Given the description of an element on the screen output the (x, y) to click on. 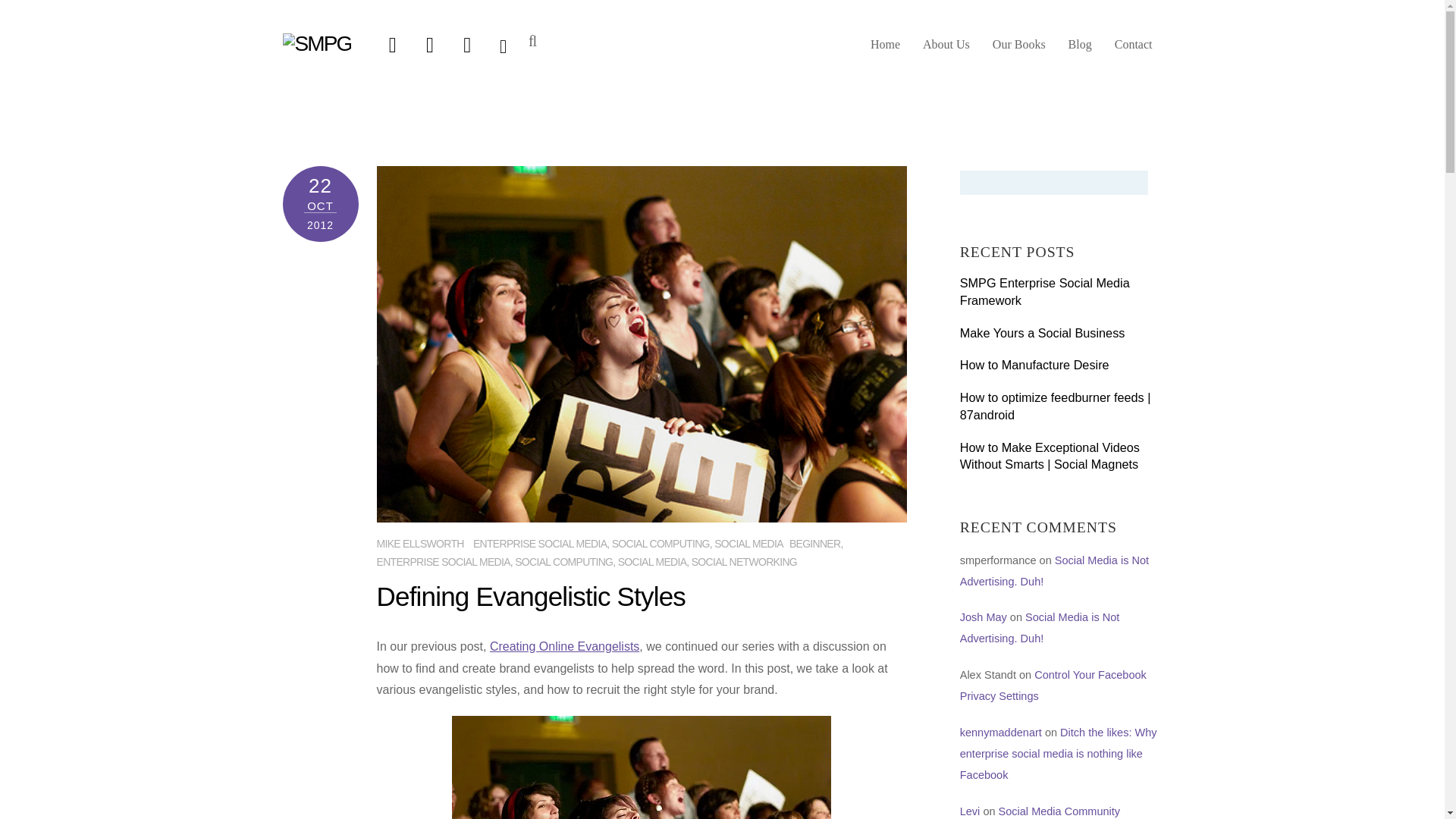
About Us (945, 50)
SOCIAL COMPUTING (660, 543)
Twitter (392, 43)
ENTERPRISE SOCIAL MEDIA (442, 562)
SOCIAL MEDIA (652, 562)
Facebook (429, 43)
Social Media is Not Advertising. Duh! (1039, 627)
Social Media is Not Advertising. Duh! (1053, 571)
SOCIAL NETWORKING (743, 562)
Make Yours a Social Business (1060, 333)
Control Your Facebook Privacy Settings (1053, 685)
SMPG (316, 43)
Contact (1133, 50)
Creating Online Evangelists (564, 645)
Blog (1080, 50)
